Given the description of an element on the screen output the (x, y) to click on. 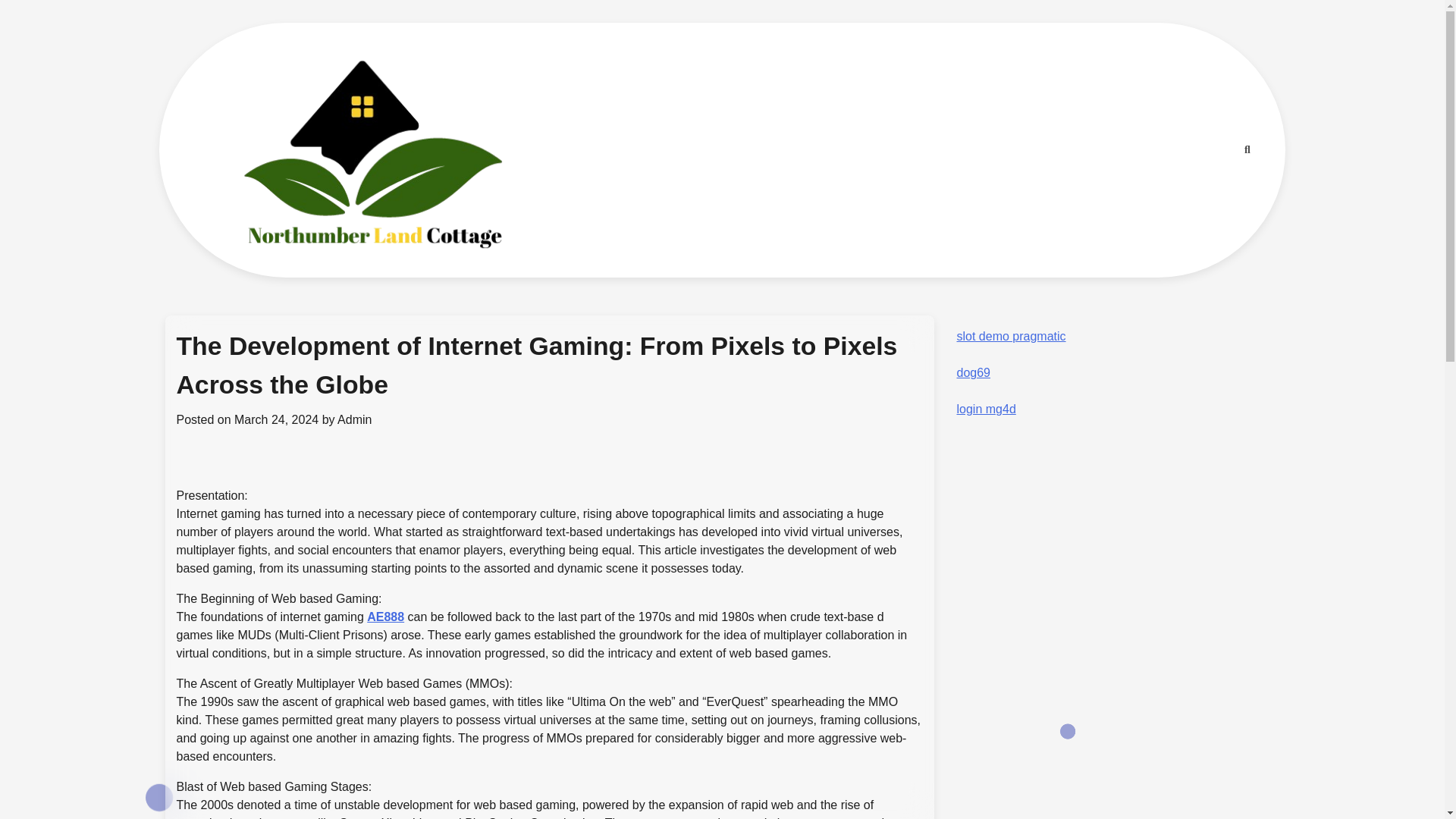
AE888 (385, 616)
March 24, 2024 (276, 419)
dog69 (973, 372)
Search (1247, 149)
login mg4d (986, 408)
slot demo pragmatic (1010, 336)
Admin (354, 419)
Search (1219, 188)
